Given the description of an element on the screen output the (x, y) to click on. 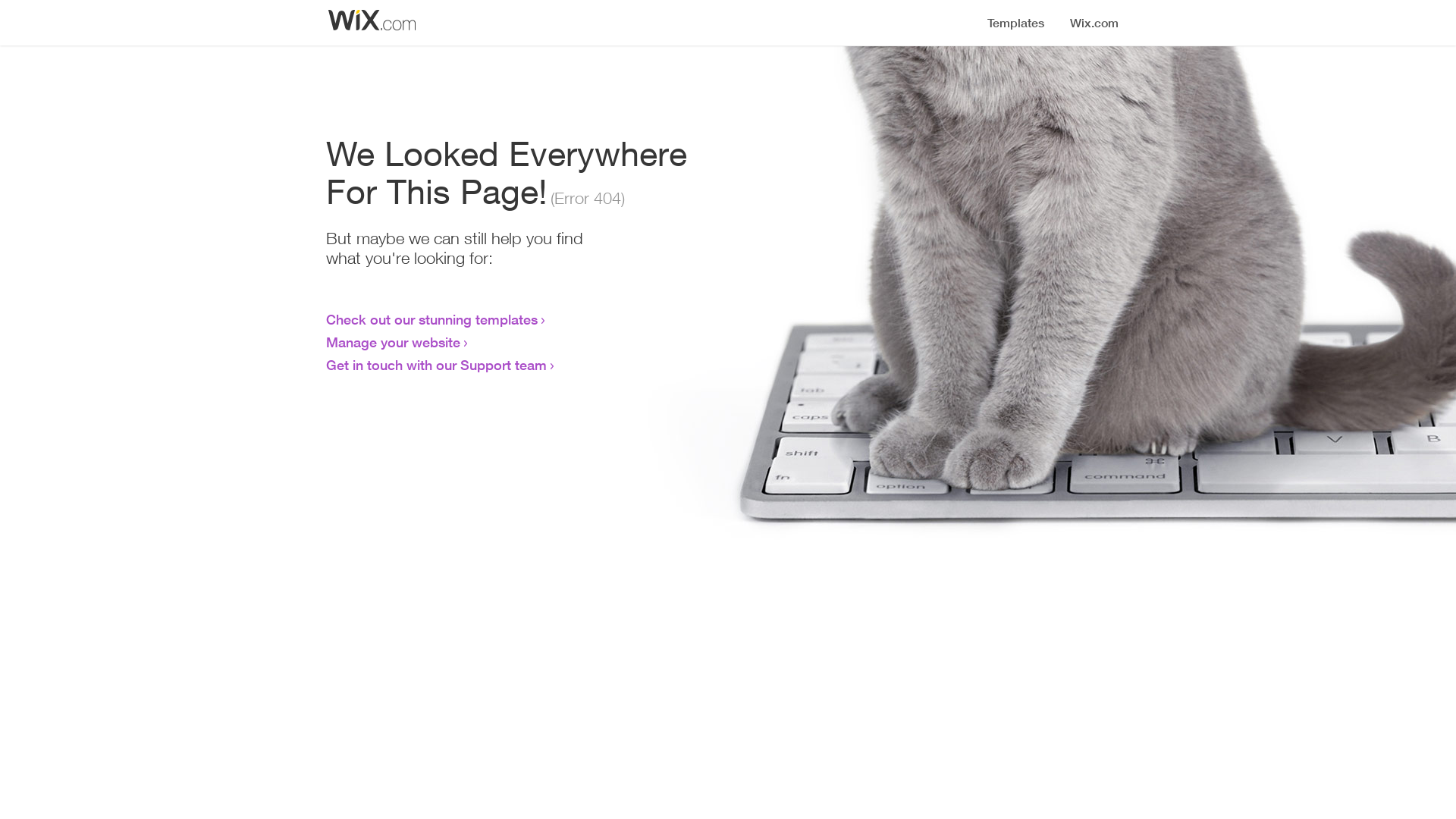
Get in touch with our Support team Element type: text (436, 364)
Manage your website Element type: text (393, 341)
Check out our stunning templates Element type: text (431, 318)
